Given the description of an element on the screen output the (x, y) to click on. 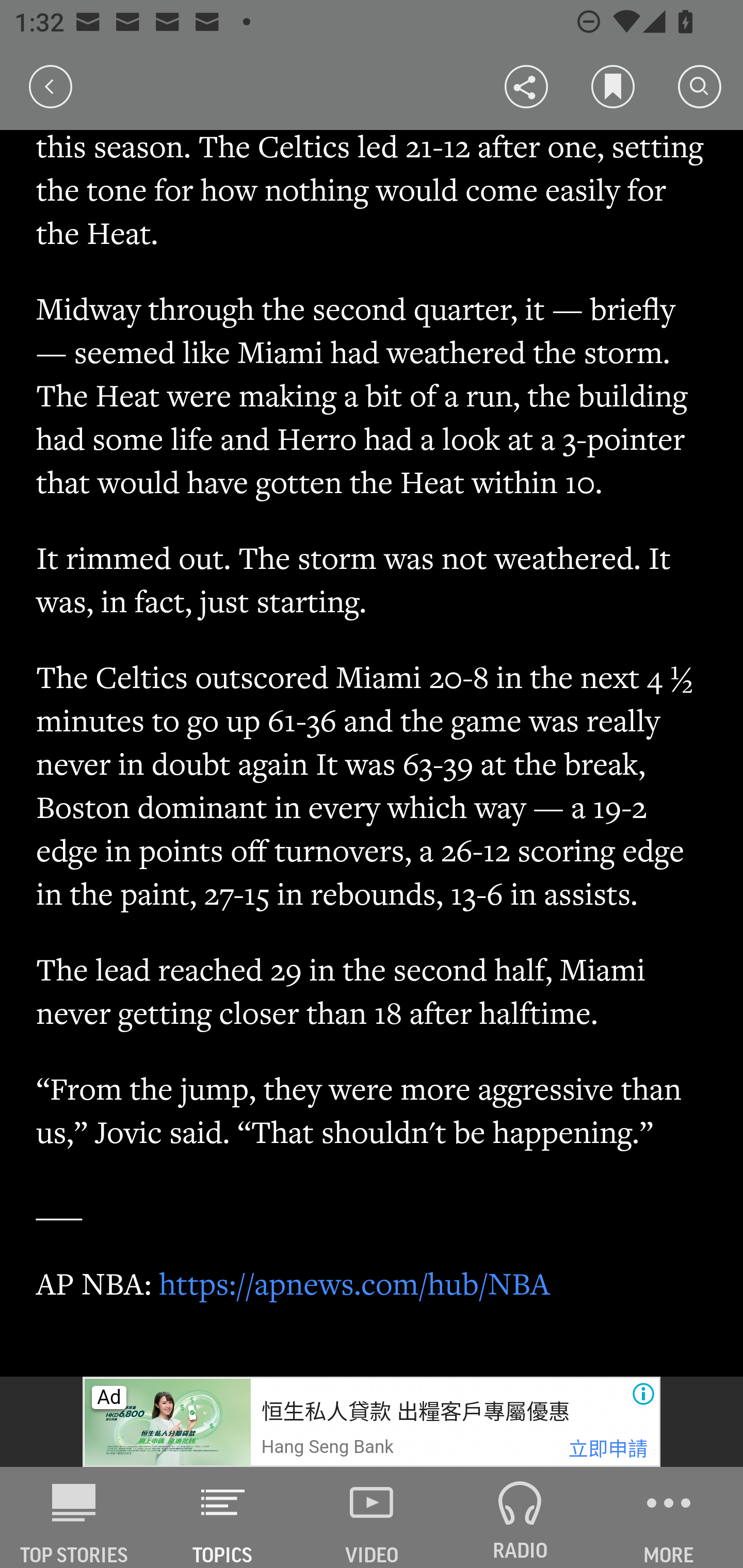
https://apnews.com/hub/NBA (354, 1283)
恒生私人貸款 出糧客戶專屬優惠 (414, 1411)
Hang Seng Bank (326, 1447)
立即申請 (607, 1449)
AP News TOP STORIES (74, 1517)
TOPICS (222, 1517)
VIDEO (371, 1517)
RADIO (519, 1517)
MORE (668, 1517)
